Given the description of an element on the screen output the (x, y) to click on. 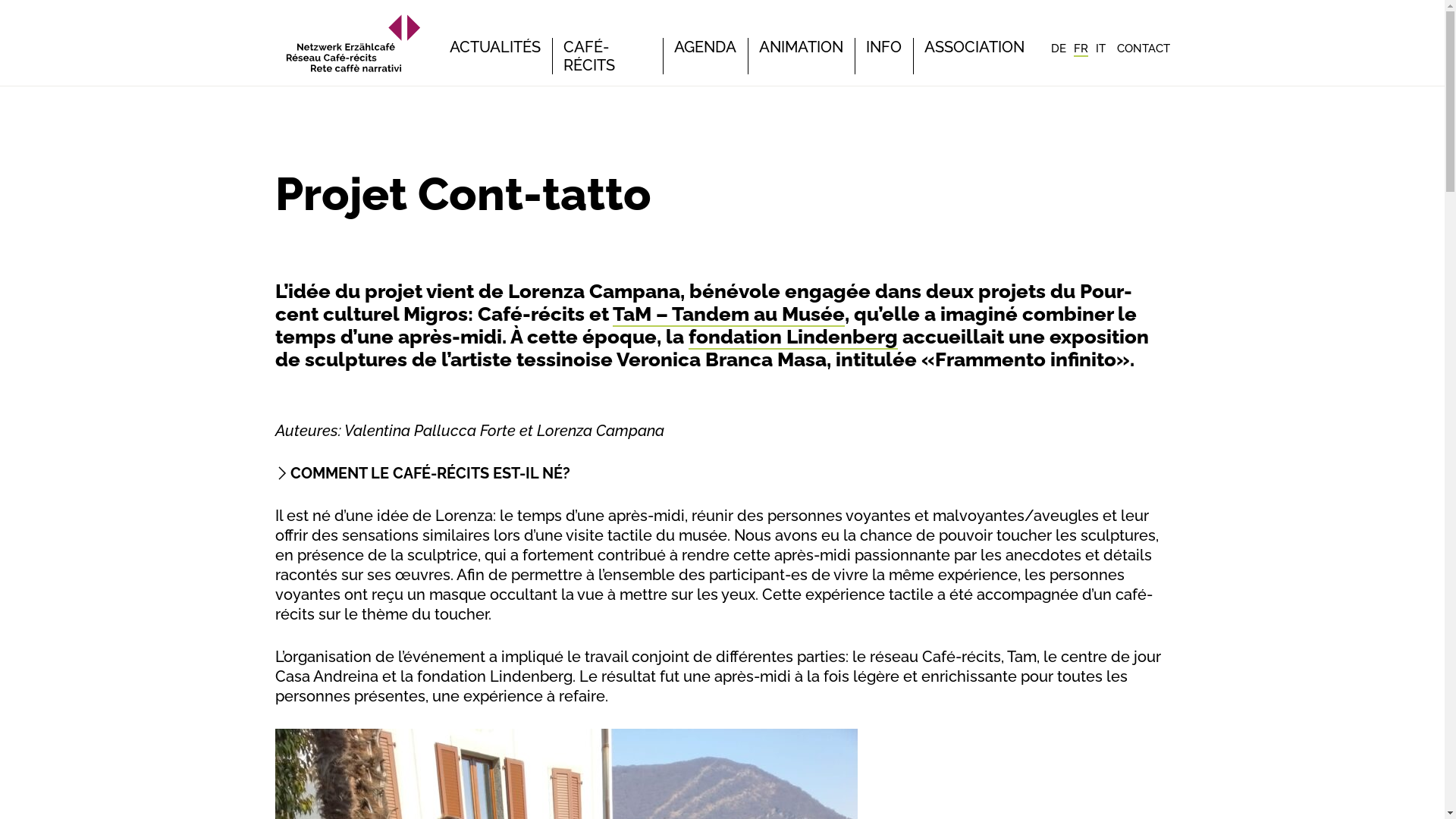
IT Element type: text (1099, 48)
ASSOCIATION Element type: text (973, 46)
AGENDA Element type: text (704, 46)
INFO Element type: text (883, 46)
ANIMATION Element type: text (800, 46)
CONTACT Element type: text (1142, 48)
fondation Lindenberg Element type: text (792, 337)
DE Element type: text (1058, 48)
FR Element type: text (1080, 48)
